Given the description of an element on the screen output the (x, y) to click on. 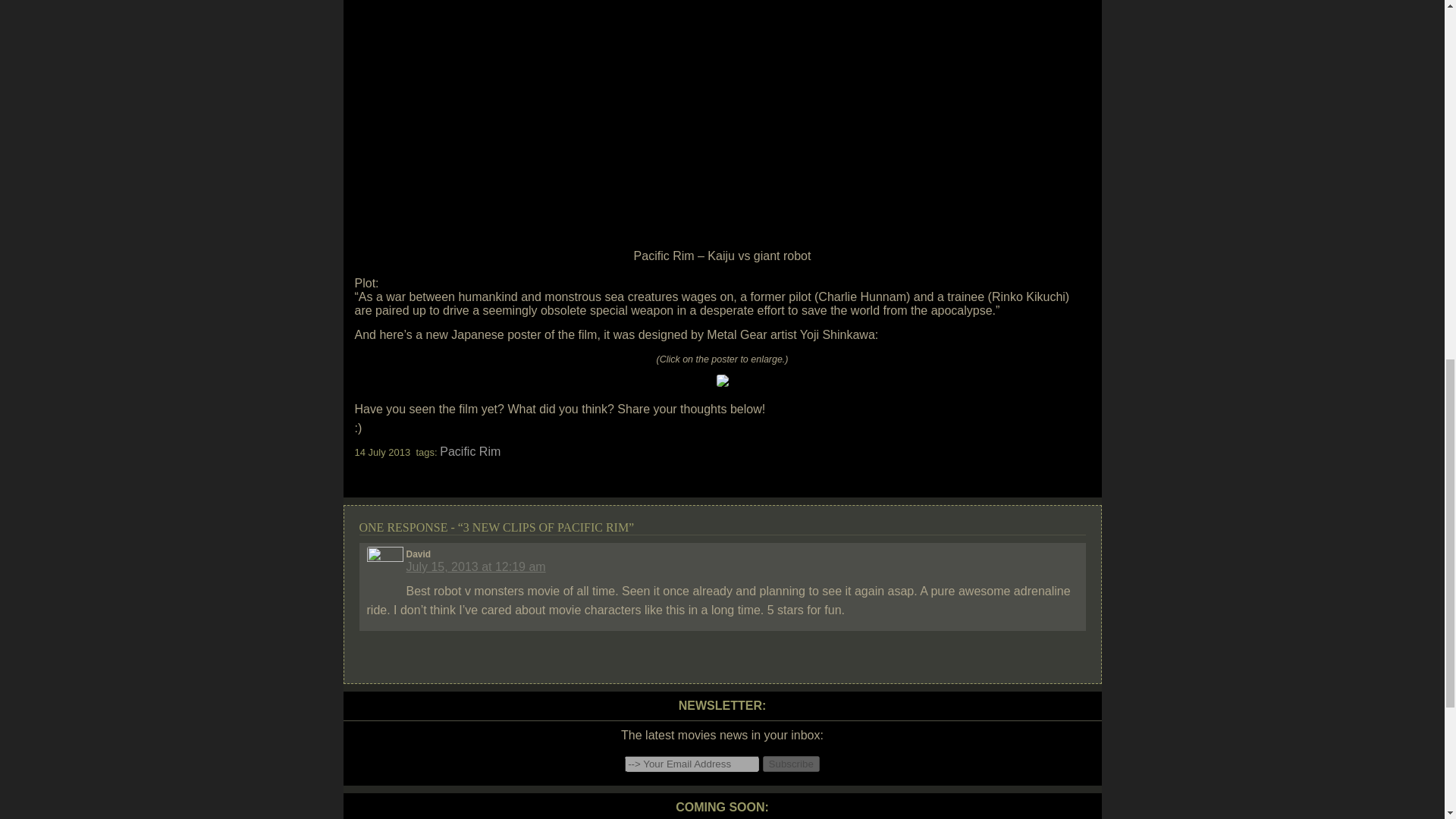
July 15, 2013 at 12:19 am (476, 566)
Subscribe (790, 763)
Subscribe (790, 763)
Pacific Rim (469, 451)
